Given the description of an element on the screen output the (x, y) to click on. 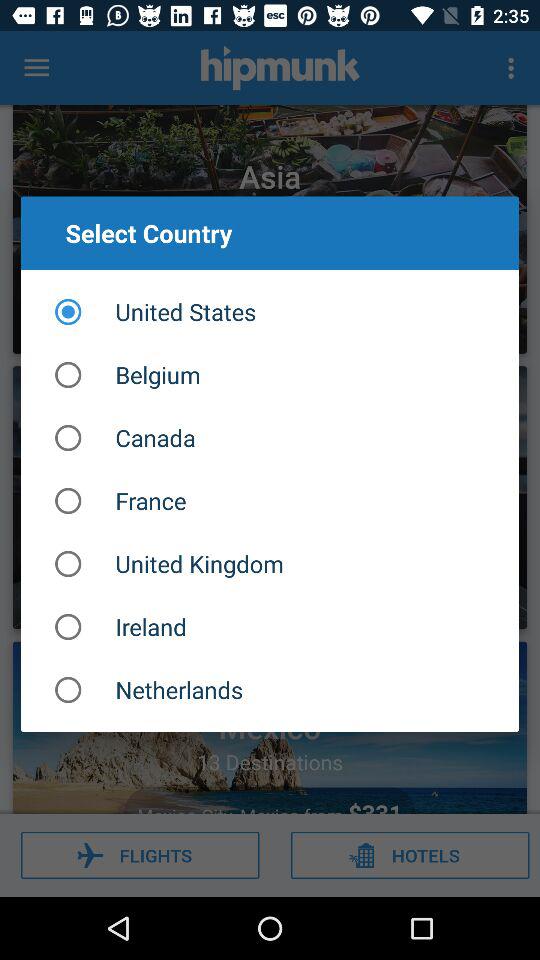
swipe until netherlands item (270, 689)
